Given the description of an element on the screen output the (x, y) to click on. 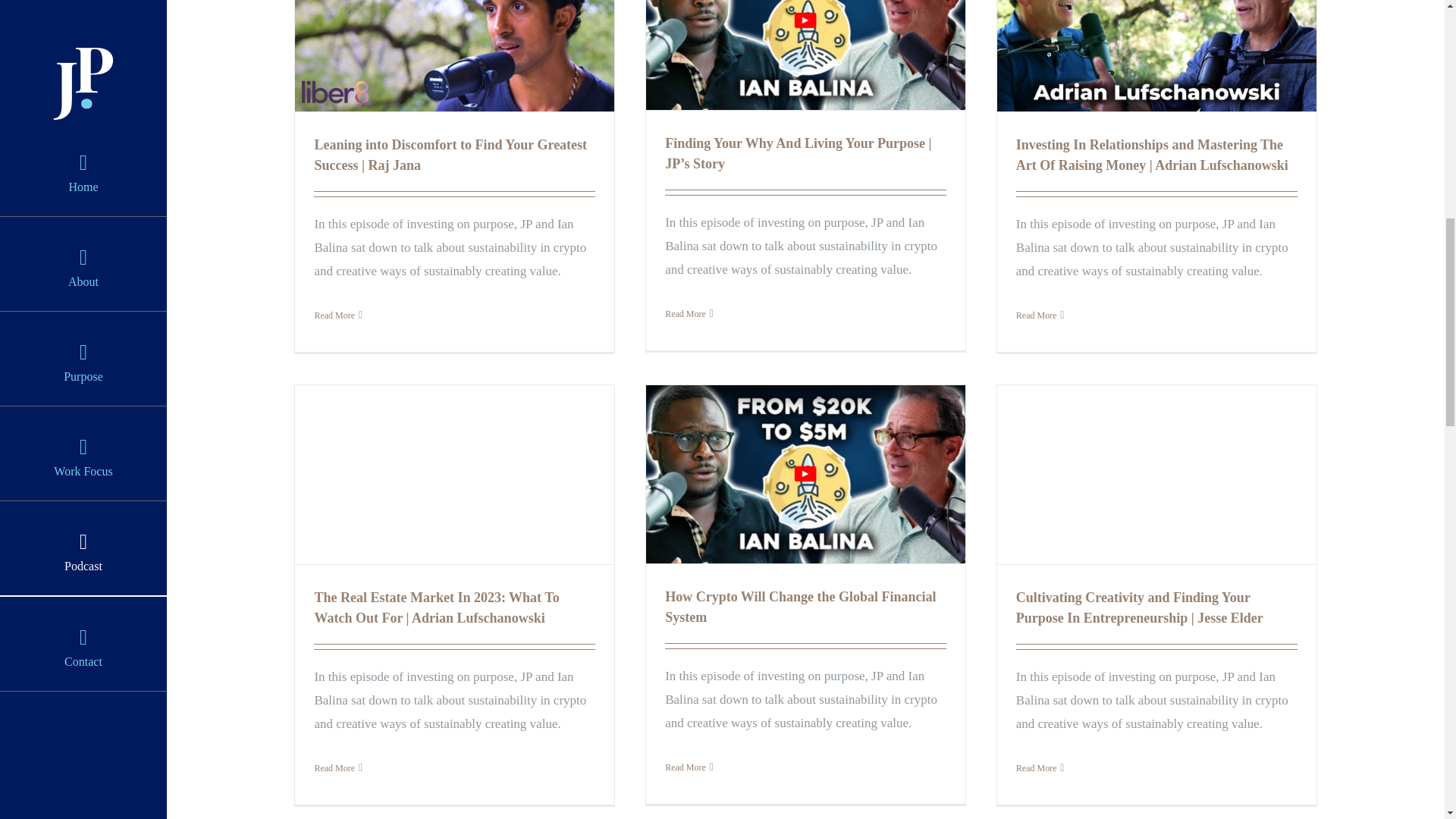
How Crypto Will Change the Global Financial System (800, 606)
Read More (334, 767)
Read More (334, 315)
Read More (685, 767)
Read More (685, 313)
Read More (1036, 315)
